Given the description of an element on the screen output the (x, y) to click on. 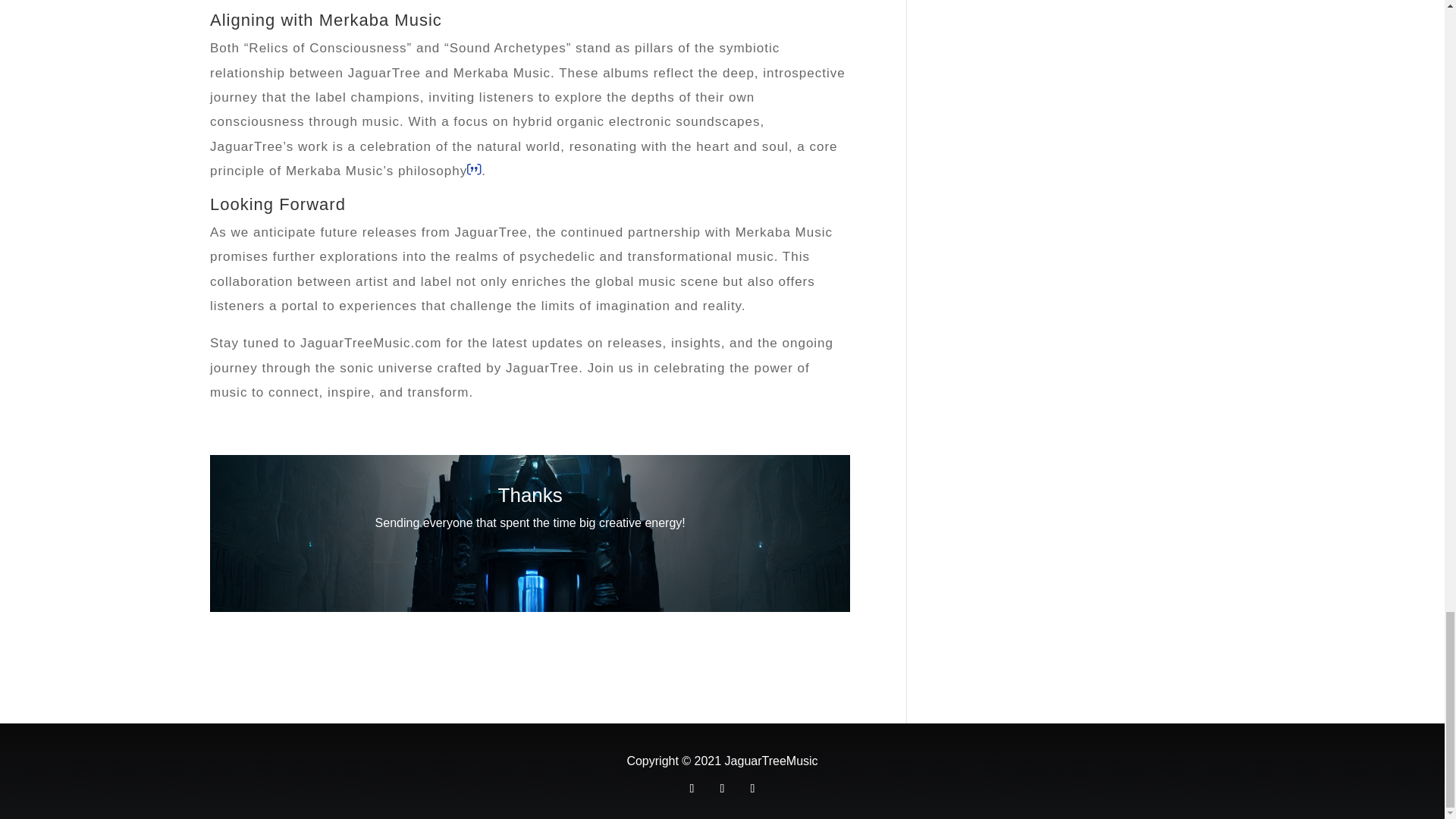
Follow on SoundCloud (691, 788)
Follow on Youtube (721, 788)
Follow on Instagram (751, 788)
